Given the description of an element on the screen output the (x, y) to click on. 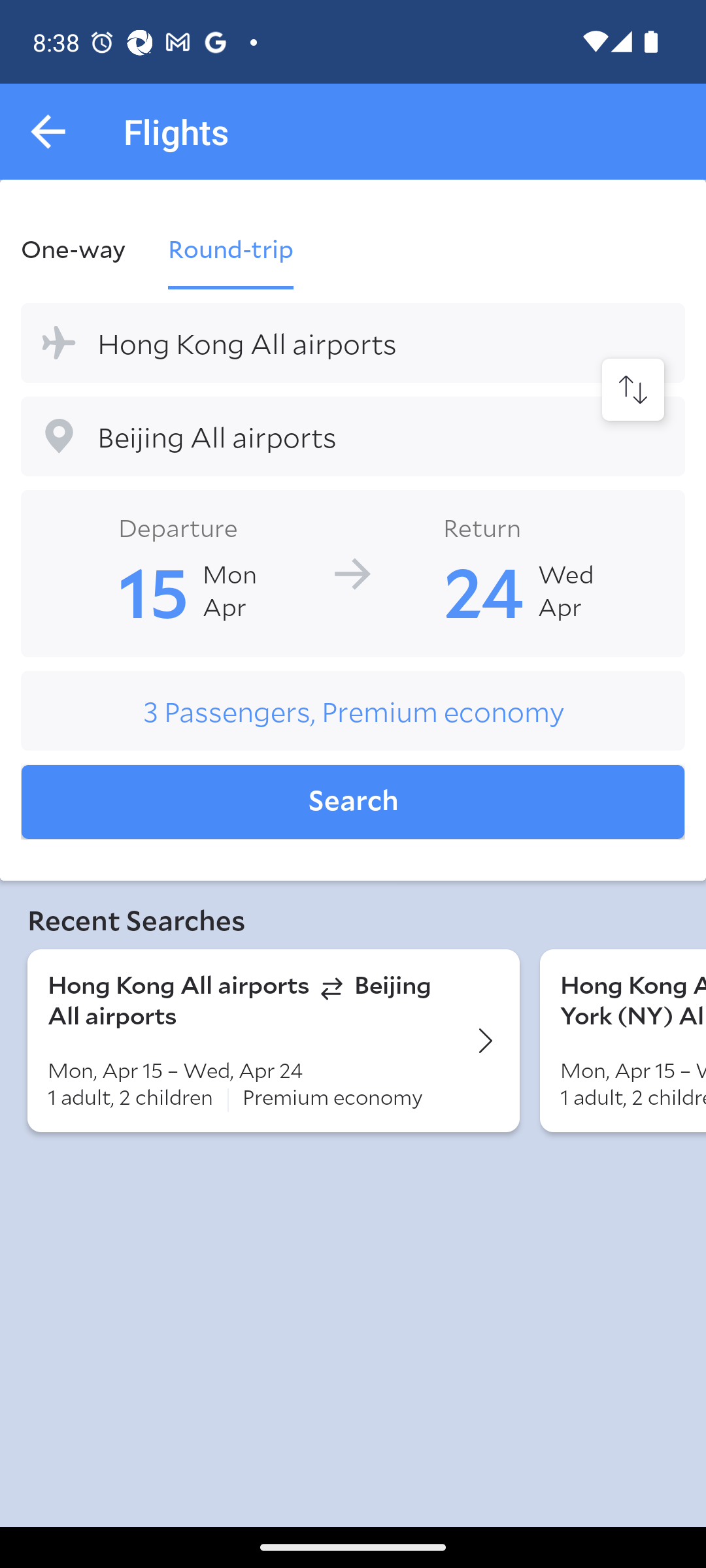
One-way (83, 248)
Hong Kong All airports (352, 342)
Beijing All airports (352, 436)
Departure 15 Mon Apr Return 24 Wed Apr (352, 572)
3 Passengers, Premium economy (352, 711)
Search  Search (352, 801)
